Given the description of an element on the screen output the (x, y) to click on. 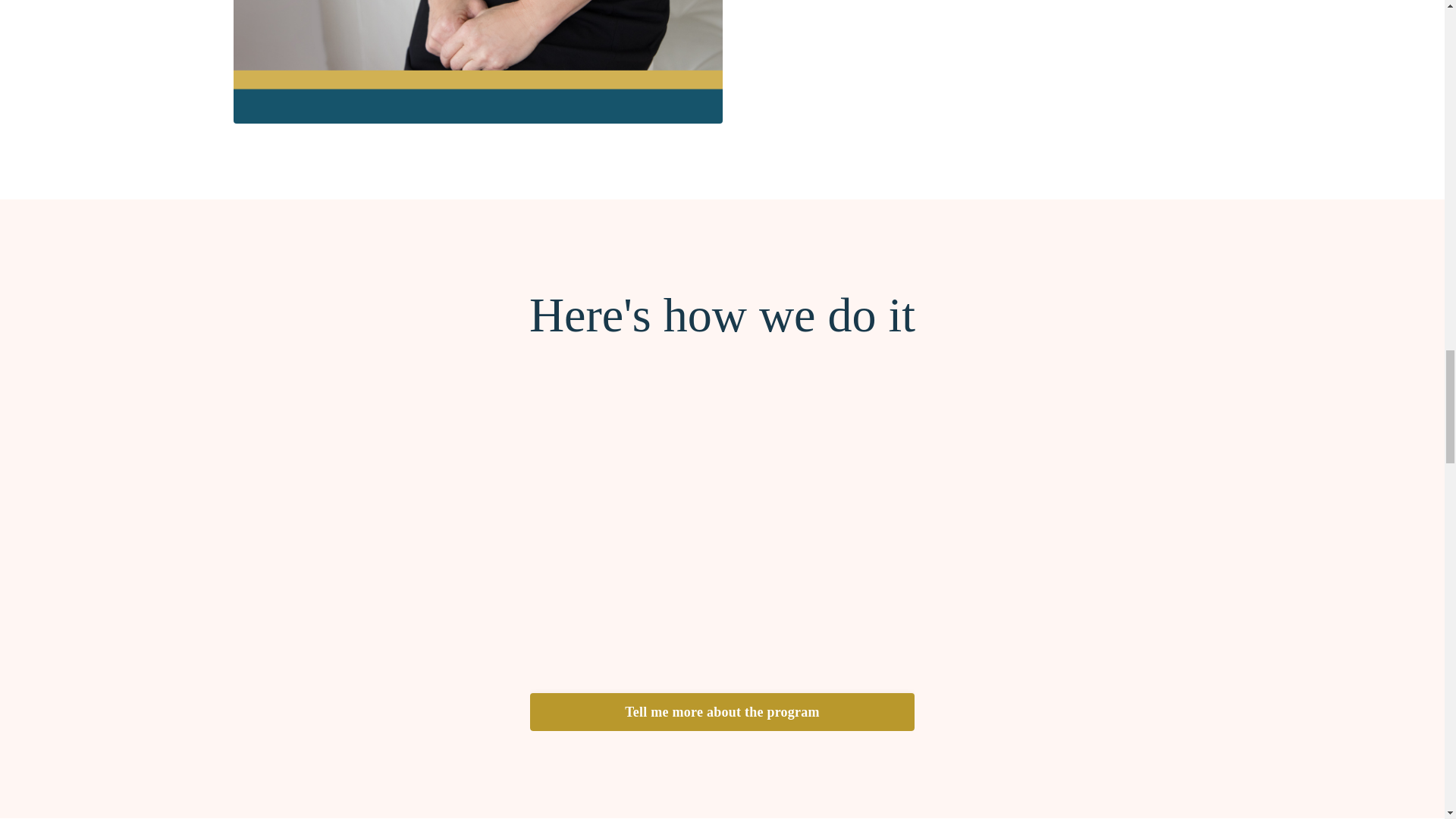
Tell me more about the program (722, 711)
